Given the description of an element on the screen output the (x, y) to click on. 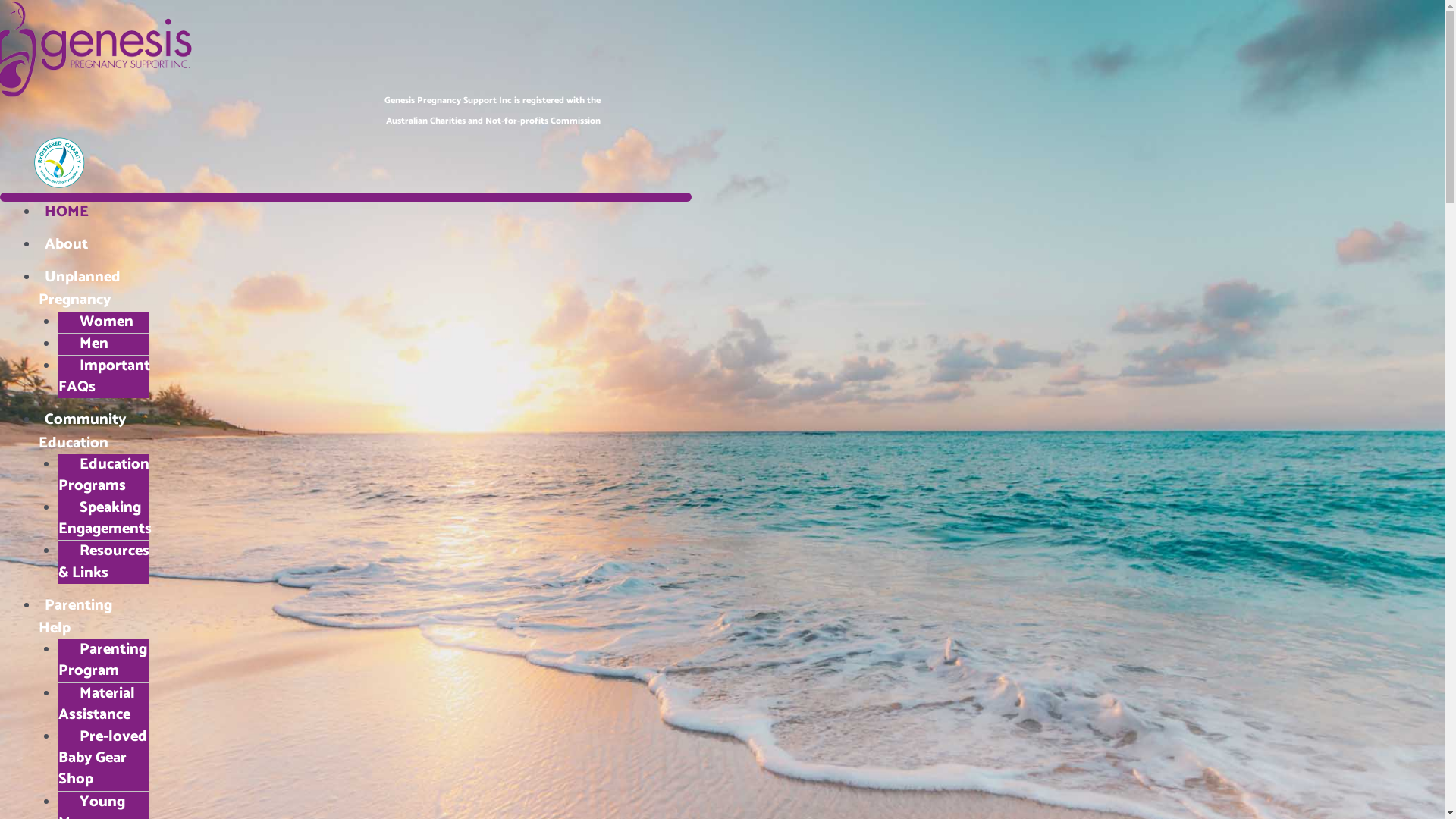
Men Element type: text (85, 343)
About Element type: text (66, 244)
Pre-loved Baby Gear Shop Element type: text (101, 757)
Resources & Links Element type: text (102, 561)
HOME Element type: text (66, 211)
Speaking Engagements Element type: text (106, 518)
Women Element type: text (97, 321)
Community
Education Element type: text (82, 430)
Unplanned
Pregnancy Element type: text (79, 288)
ACNC-Registered-Charity-Logo_RGB Element type: hover (59, 161)
Material Assistance Element type: text (96, 703)
Parenting
Help Element type: text (75, 616)
Parenting Program Element type: text (101, 659)
Important FAQs Element type: text (103, 376)
Education
Programs Element type: text (102, 474)
